Given the description of an element on the screen output the (x, y) to click on. 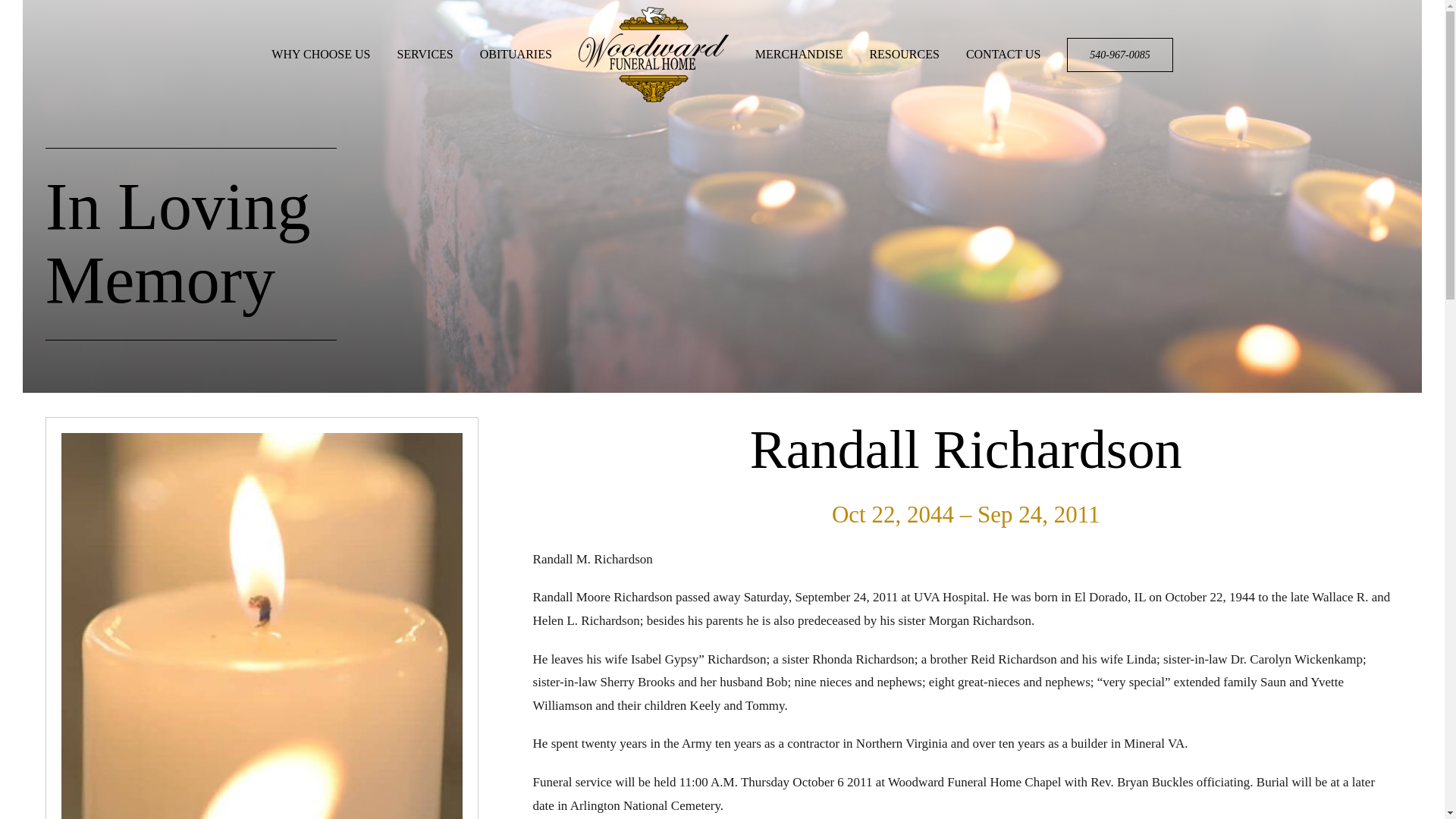
540-967-0085 (319, 53)
